Given the description of an element on the screen output the (x, y) to click on. 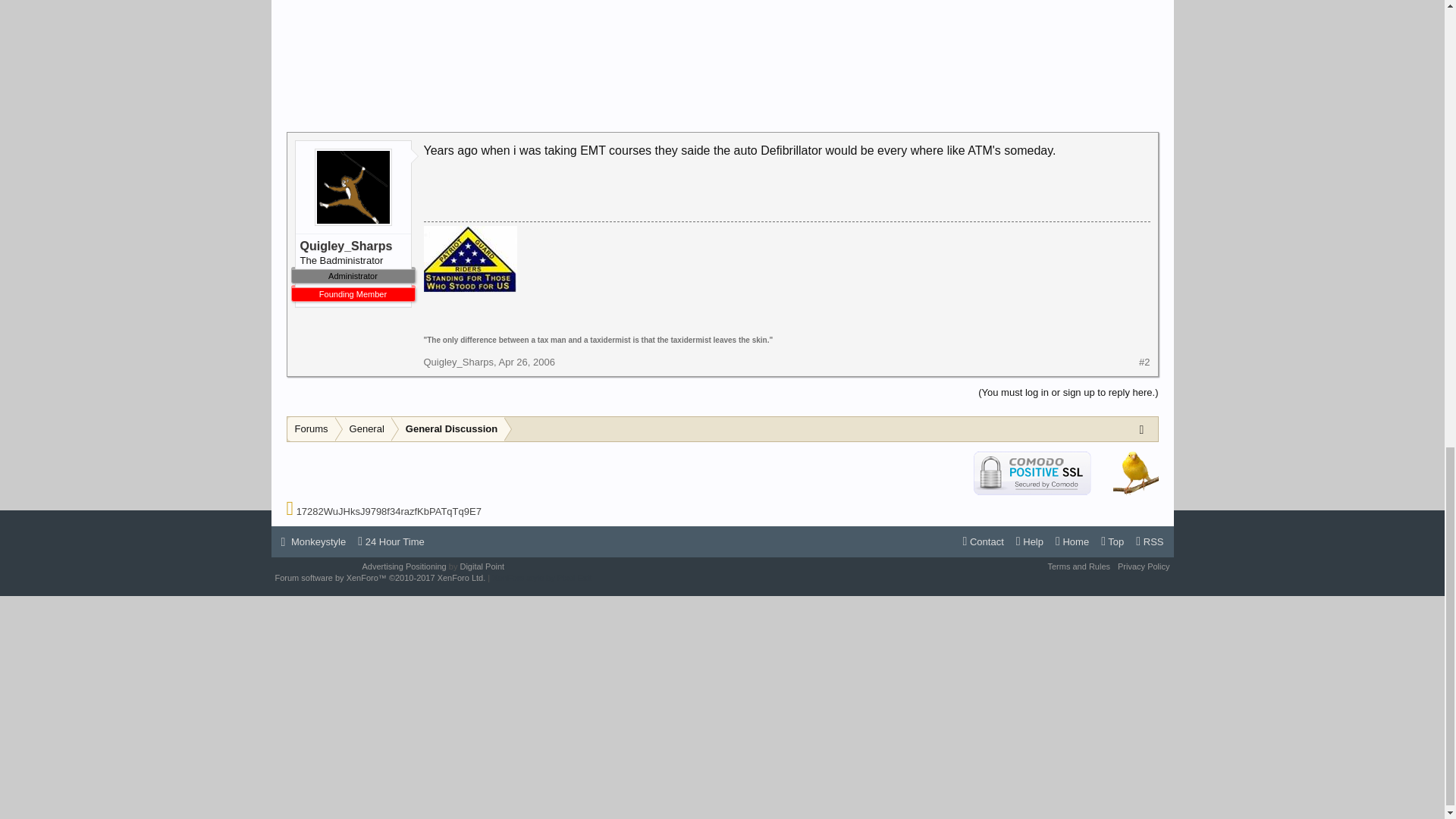
Warrant Canary (1135, 472)
Apr 26, 2006 (526, 361)
Forums (310, 429)
Advertisement (722, 62)
Open quick navigation (1144, 428)
Permalink (526, 361)
General Discussion (448, 429)
General (363, 429)
17282WuJHksJ9798f34razfKbPATqTq9E7 (389, 511)
